Given the description of an element on the screen output the (x, y) to click on. 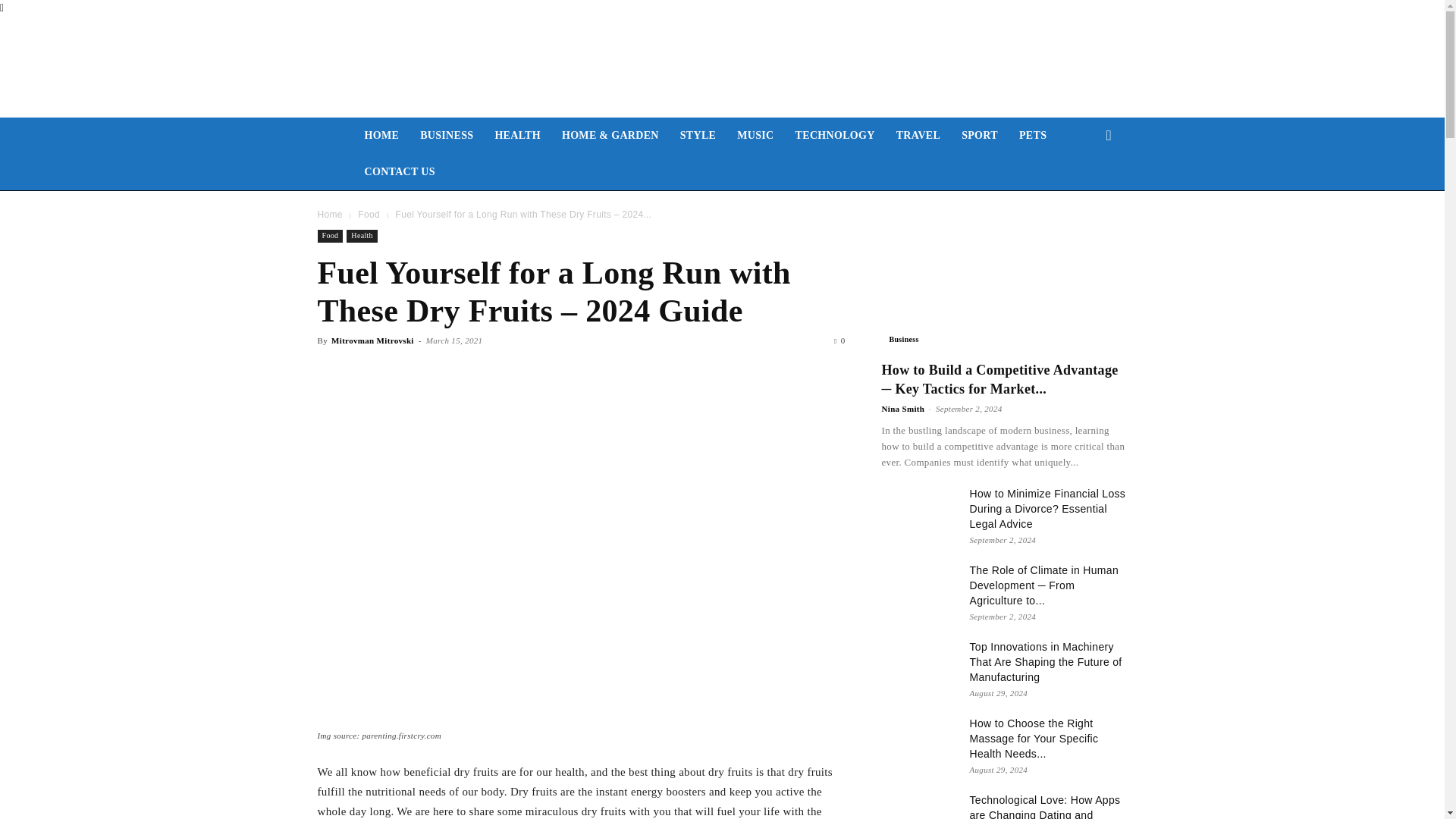
Food (329, 236)
Search (1085, 196)
MUSIC (755, 135)
Health (361, 236)
Mitrovman Mitrovski (372, 339)
BUSINESS (446, 135)
Home (329, 214)
CONTACT US (399, 171)
TECHNOLOGY (834, 135)
SPORT (979, 135)
